Given the description of an element on the screen output the (x, y) to click on. 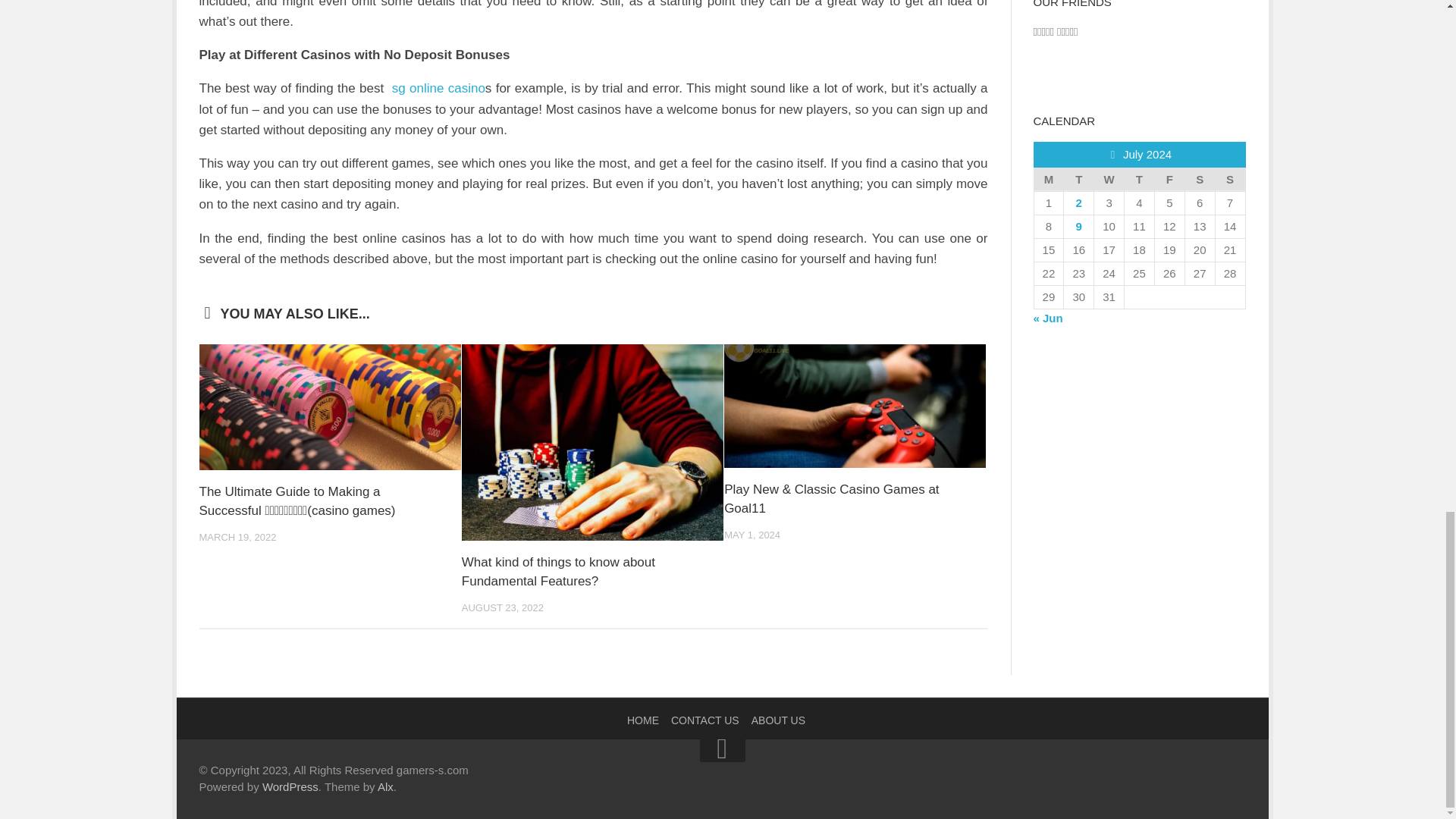
Friday (1169, 178)
Saturday (1199, 178)
Monday (1048, 178)
sg online casino (437, 88)
Wednesday (1109, 178)
What kind of things to know about Fundamental Features?  (558, 571)
Thursday (1139, 178)
Tuesday (1079, 178)
Sunday (1229, 178)
